Given the description of an element on the screen output the (x, y) to click on. 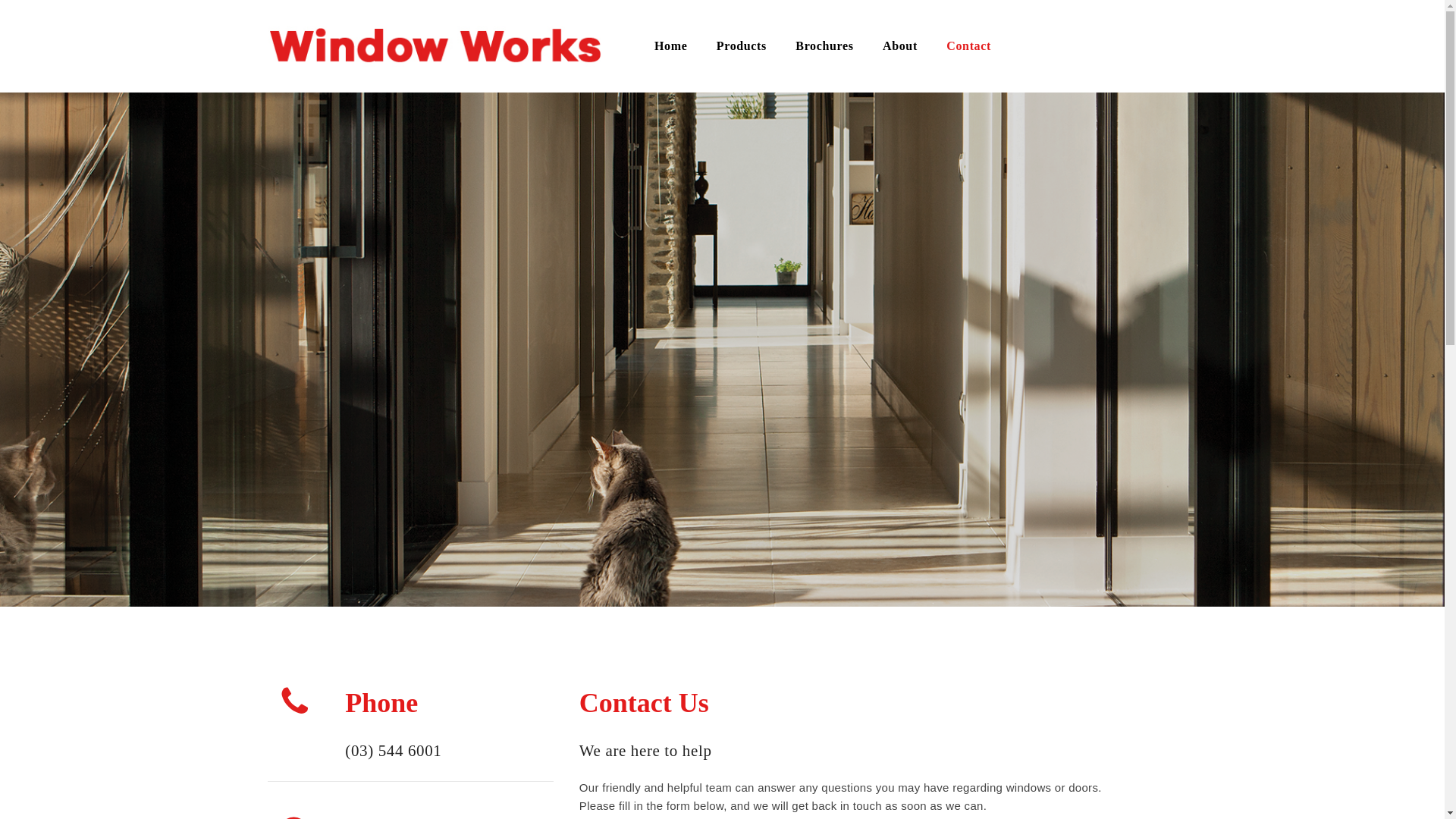
Products (741, 45)
Brochures (823, 45)
About (899, 45)
Home (670, 45)
Contact (968, 45)
